Given the description of an element on the screen output the (x, y) to click on. 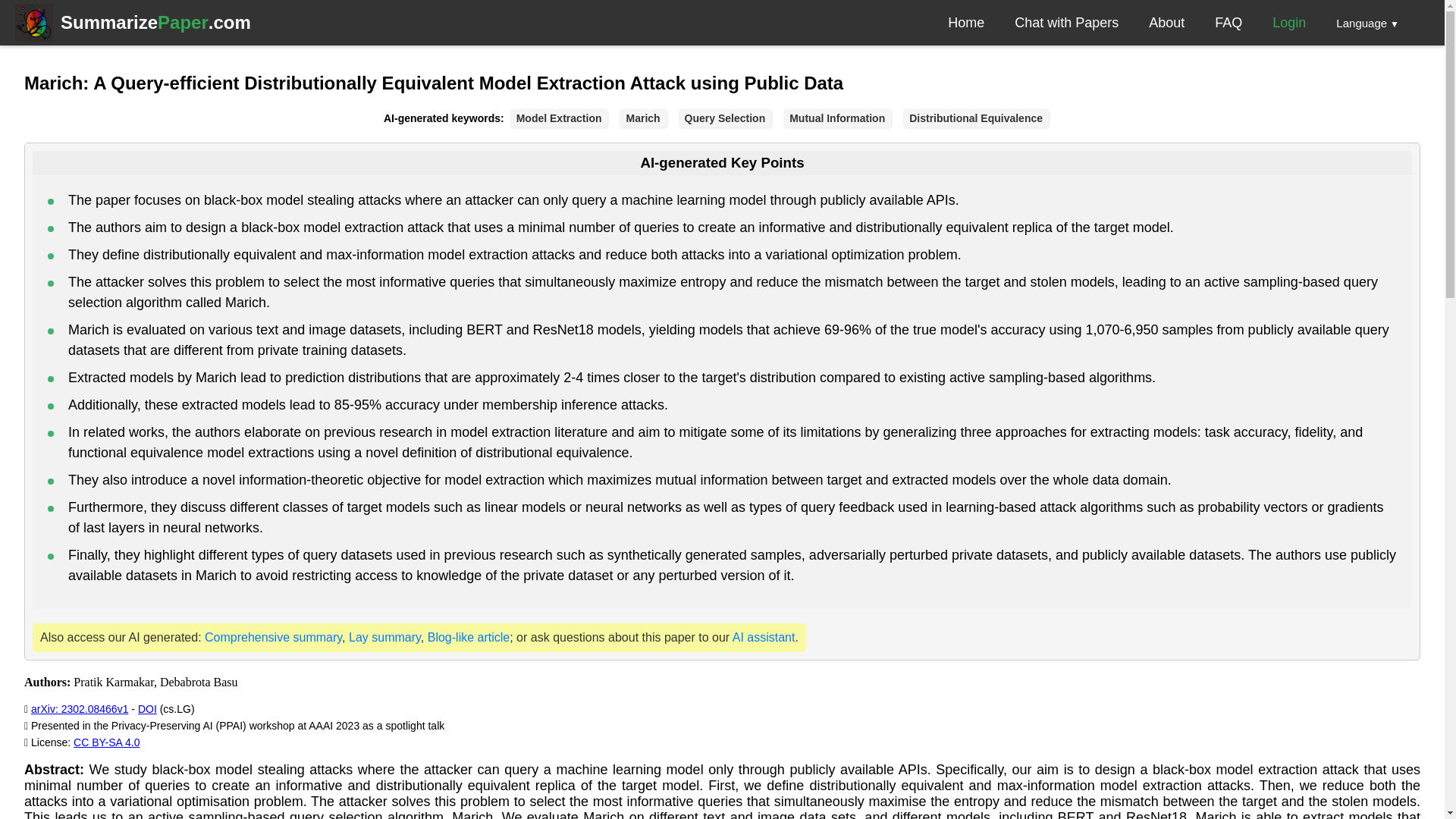
About (1166, 22)
arXiv: 2302.08466v1 (155, 22)
Blog-like article (79, 708)
Lay summary (468, 636)
CC BY-SA 4.0 (384, 636)
DOI (106, 742)
FAQ (147, 708)
Login (1227, 22)
AI assistant (1289, 22)
Chat with Papers (763, 636)
Comprehensive summary (1066, 22)
Home (273, 636)
